Given the description of an element on the screen output the (x, y) to click on. 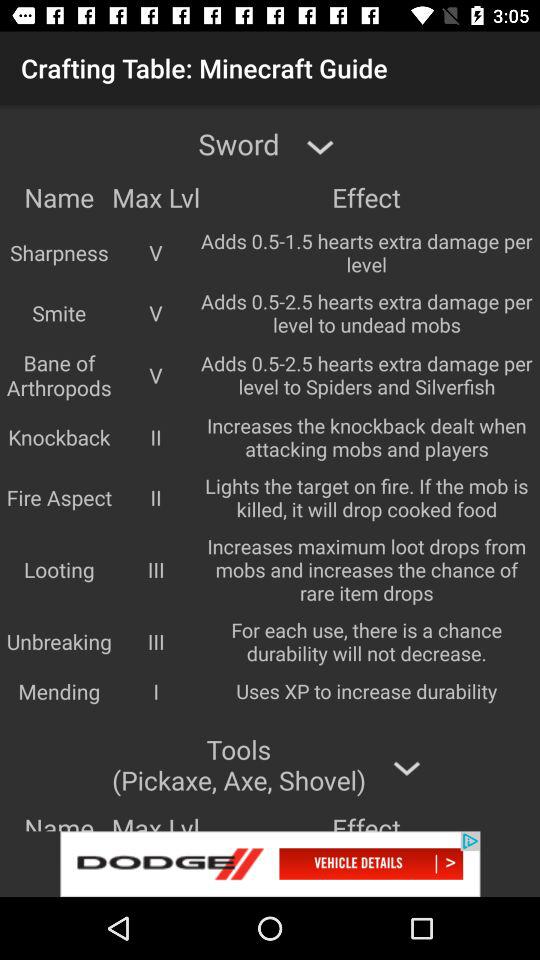
advertisement (270, 864)
